Given the description of an element on the screen output the (x, y) to click on. 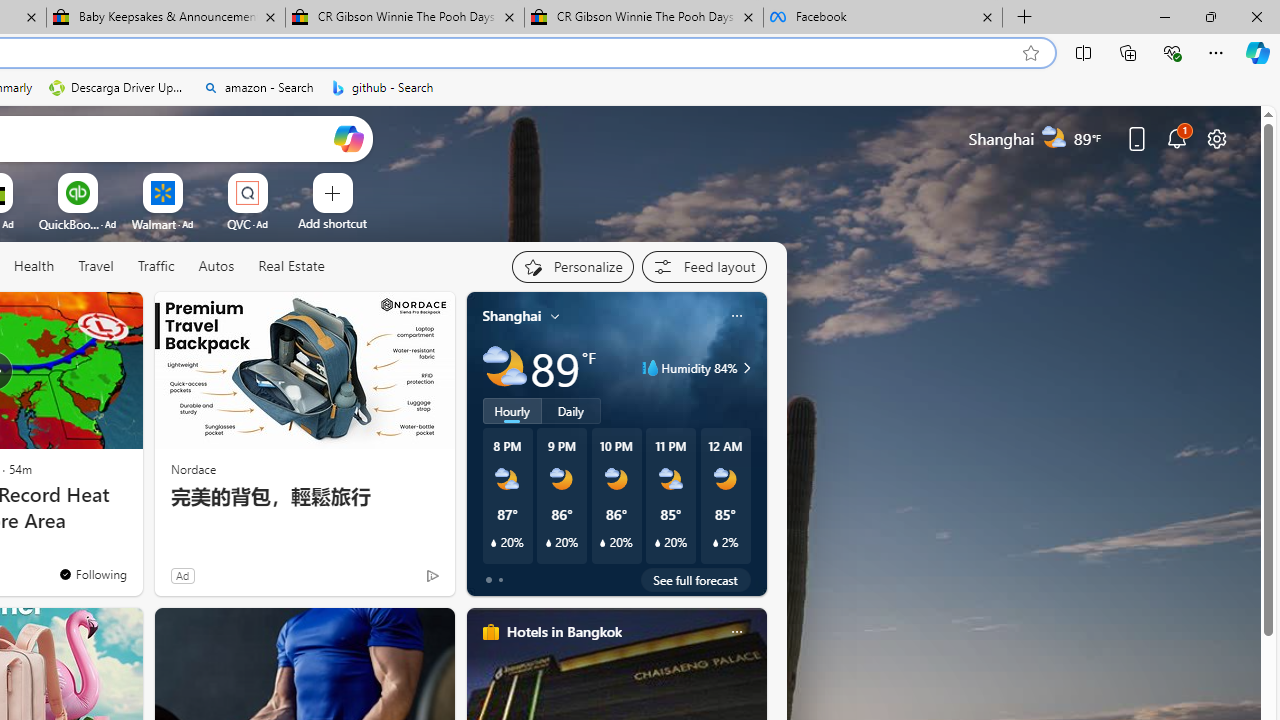
More Options (279, 179)
Daily (571, 411)
